Given the description of an element on the screen output the (x, y) to click on. 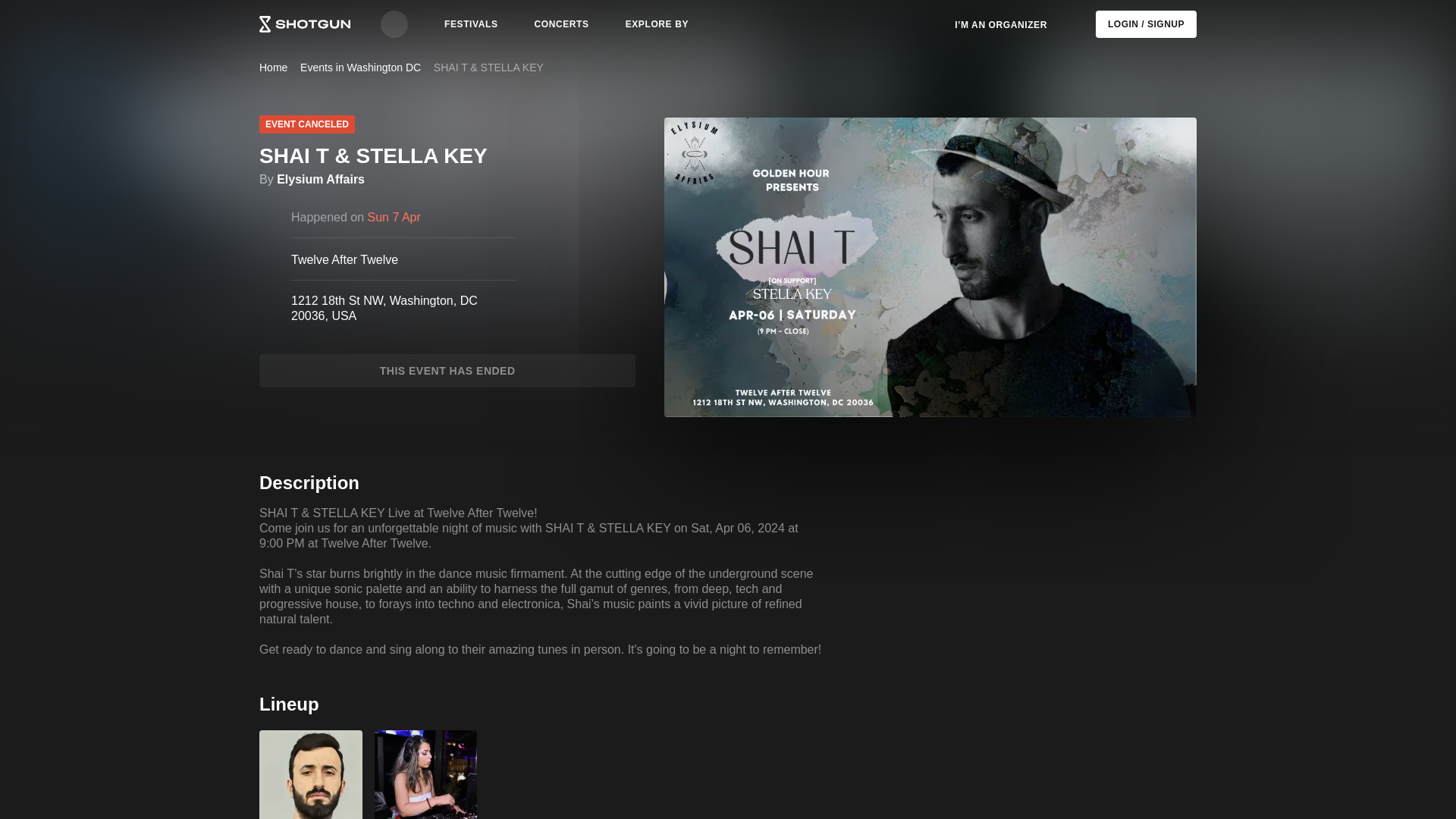
Events in Washington DC (359, 67)
Home (272, 67)
Shai T (310, 774)
CONCERTS (561, 24)
Elysium Affairs (320, 179)
FESTIVALS (470, 24)
Stella Key (425, 774)
